Given the description of an element on the screen output the (x, y) to click on. 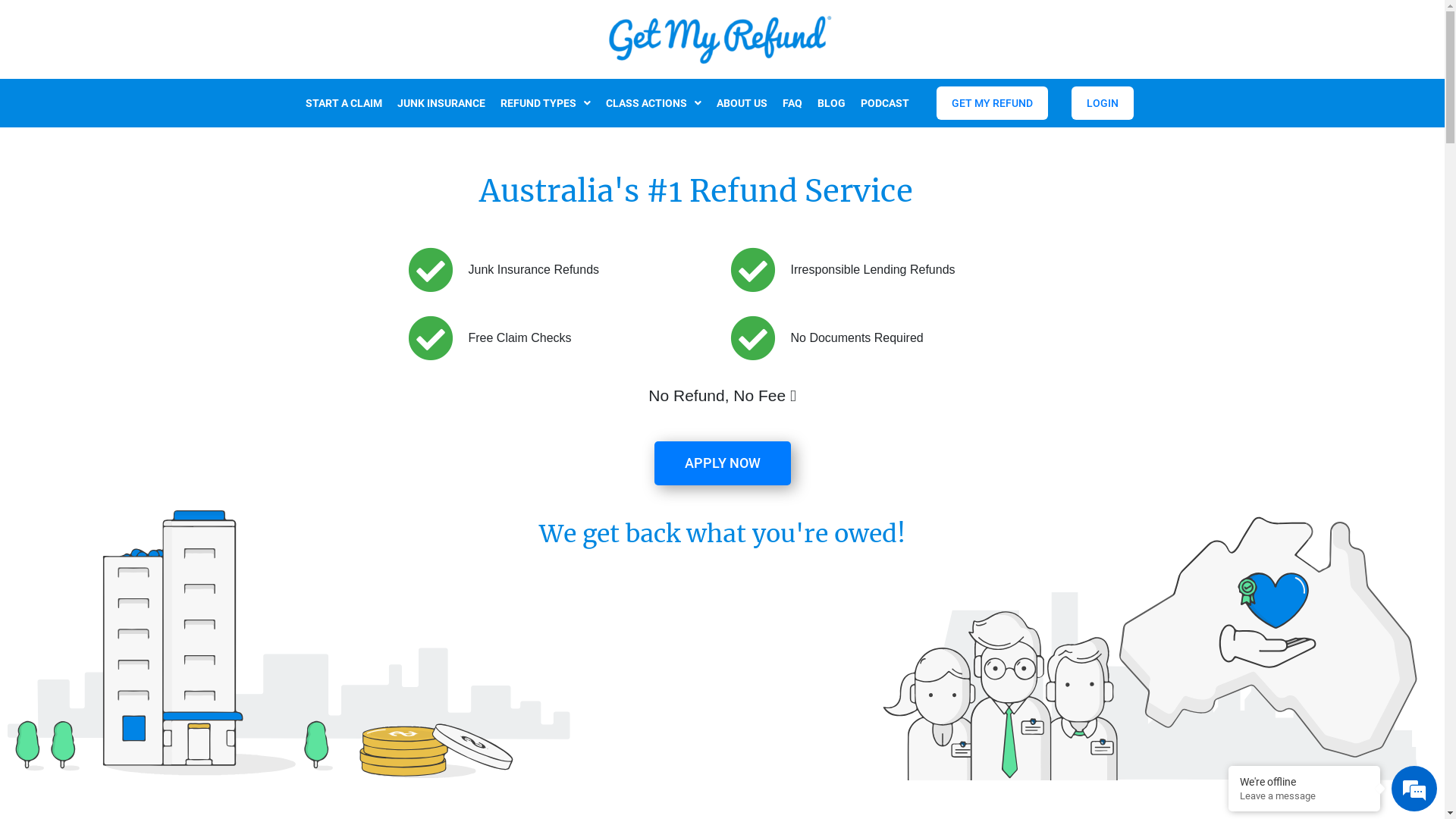
REFUND TYPES Element type: text (545, 102)
ABOUT US Element type: text (741, 102)
left-acd Element type: hover (288, 645)
Right_svg Element type: hover (1150, 644)
JUNK INSURANCE Element type: text (440, 102)
BLOG Element type: text (831, 102)
START A CLAIM Element type: text (343, 102)
GET MY REFUND Element type: text (992, 102)
LOGIN Element type: text (1102, 102)
CLASS ACTIONS Element type: text (652, 102)
FAQ Element type: text (792, 102)
PODCAST Element type: text (884, 102)
APPLY NOW Element type: text (721, 463)
